Given the description of an element on the screen output the (x, y) to click on. 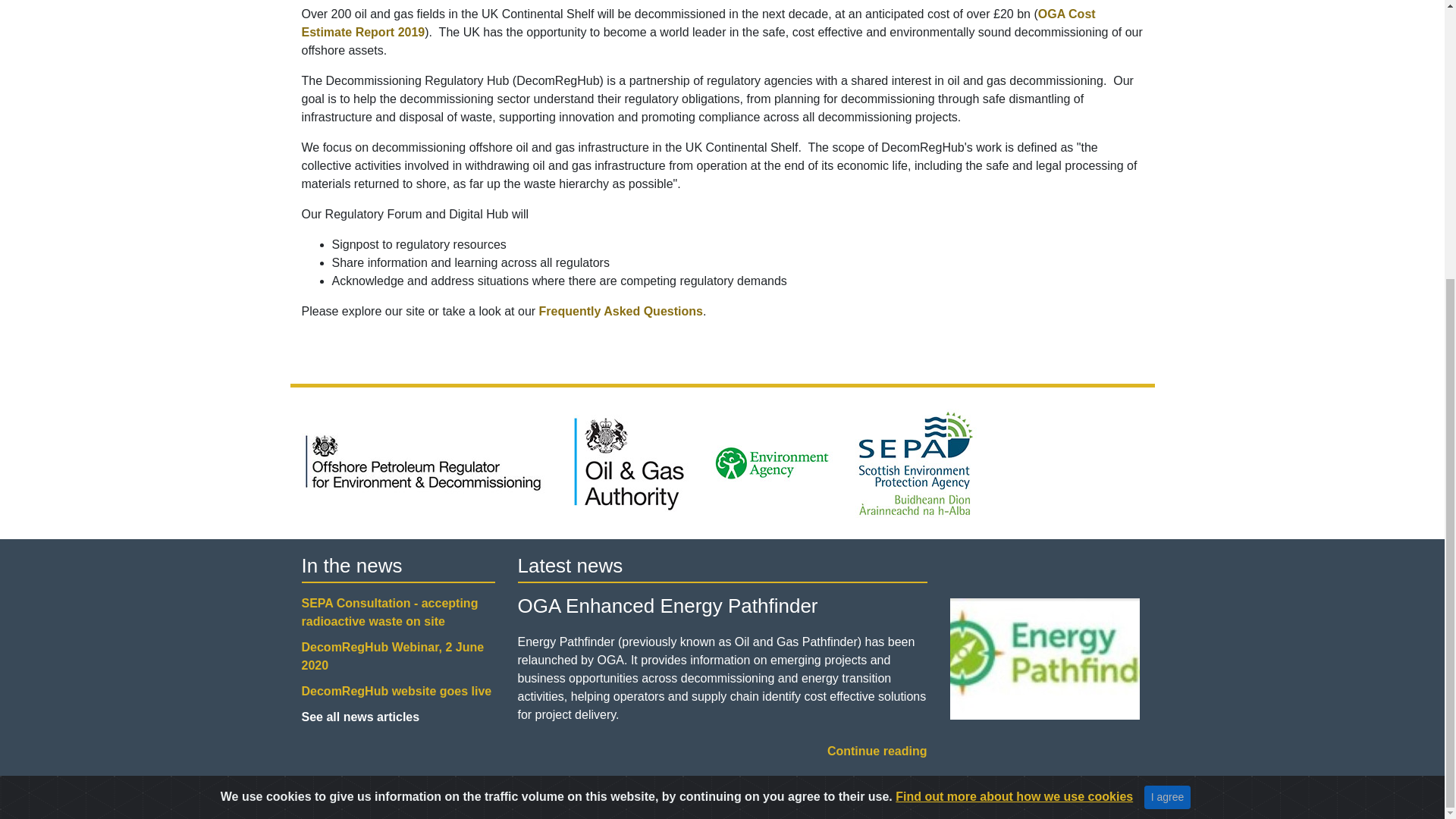
OGA Cost Estimate Report 2019 (698, 22)
OGA Cost Estimate 2019 (698, 22)
Contact Us (648, 793)
Continue reading (877, 751)
See all news articles (360, 716)
I agree (1167, 381)
DecomRegHub Webinar, 2 June 2020 (392, 655)
Access to information (359, 793)
Find out more about how we use cookies (1013, 380)
Disclaimer (579, 793)
OGA Enhanced Energy Pathfinder  (1043, 636)
SEPA Consultation - accepting radioactive waste on site (390, 612)
FAQs (620, 310)
DecomRegHub website goes live (396, 690)
Frequently Asked Questions (620, 310)
